Given the description of an element on the screen output the (x, y) to click on. 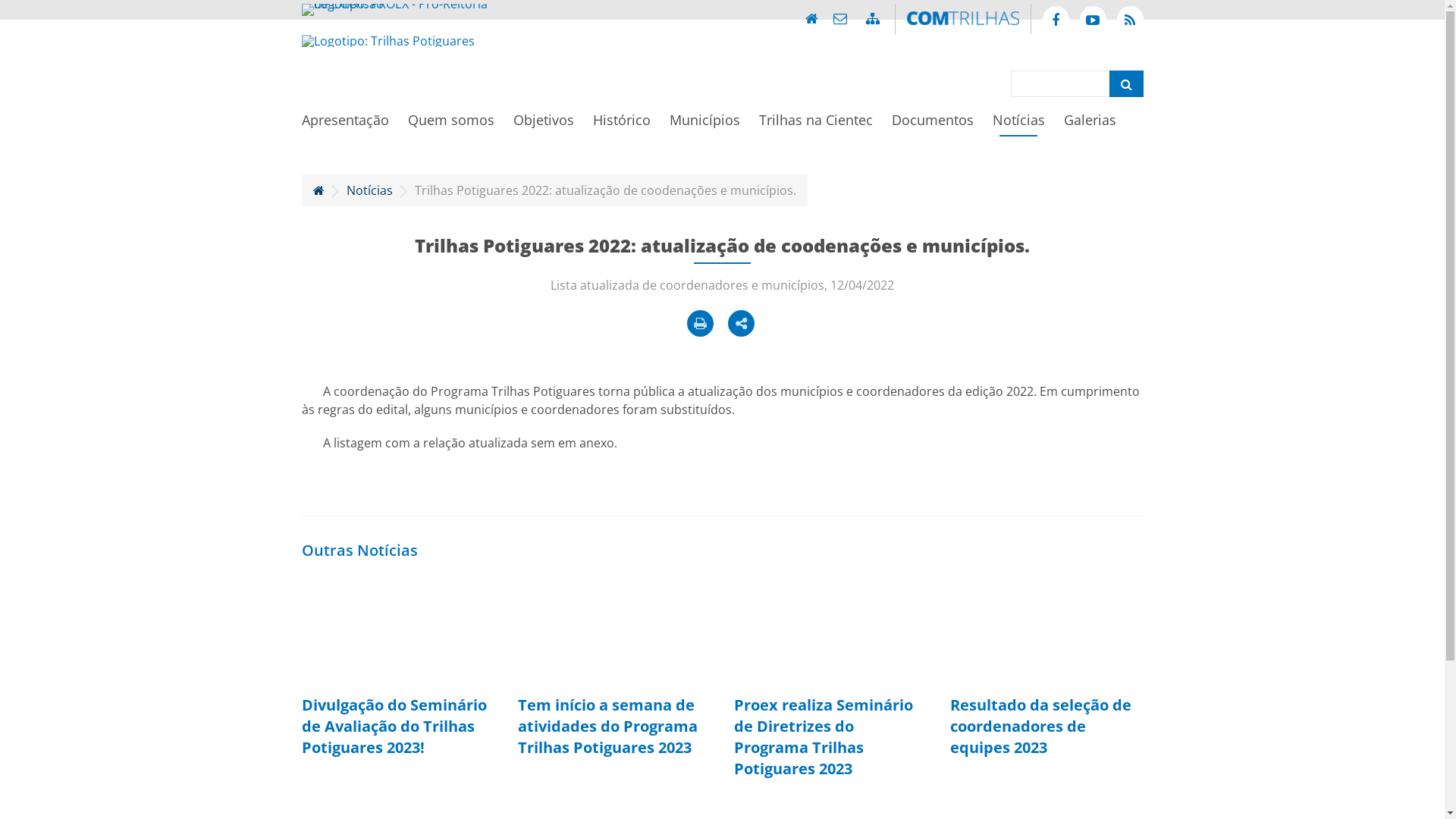
Compartilhar Element type: hover (741, 323)
Inicio Element type: hover (811, 18)
YouTube Element type: hover (1092, 19)
Objetivos Element type: text (542, 124)
Quem somos Element type: text (450, 124)
RSS Element type: hover (1129, 19)
Contato Element type: hover (839, 18)
Trilhas Potiguares Element type: hover (387, 40)
Trilhas na Cientec Element type: text (815, 124)
Documentos Element type: text (932, 124)
Mapa do Site Element type: hover (872, 18)
Facebook Element type: hover (1054, 19)
Galerias Element type: text (1089, 124)
